Given the description of an element on the screen output the (x, y) to click on. 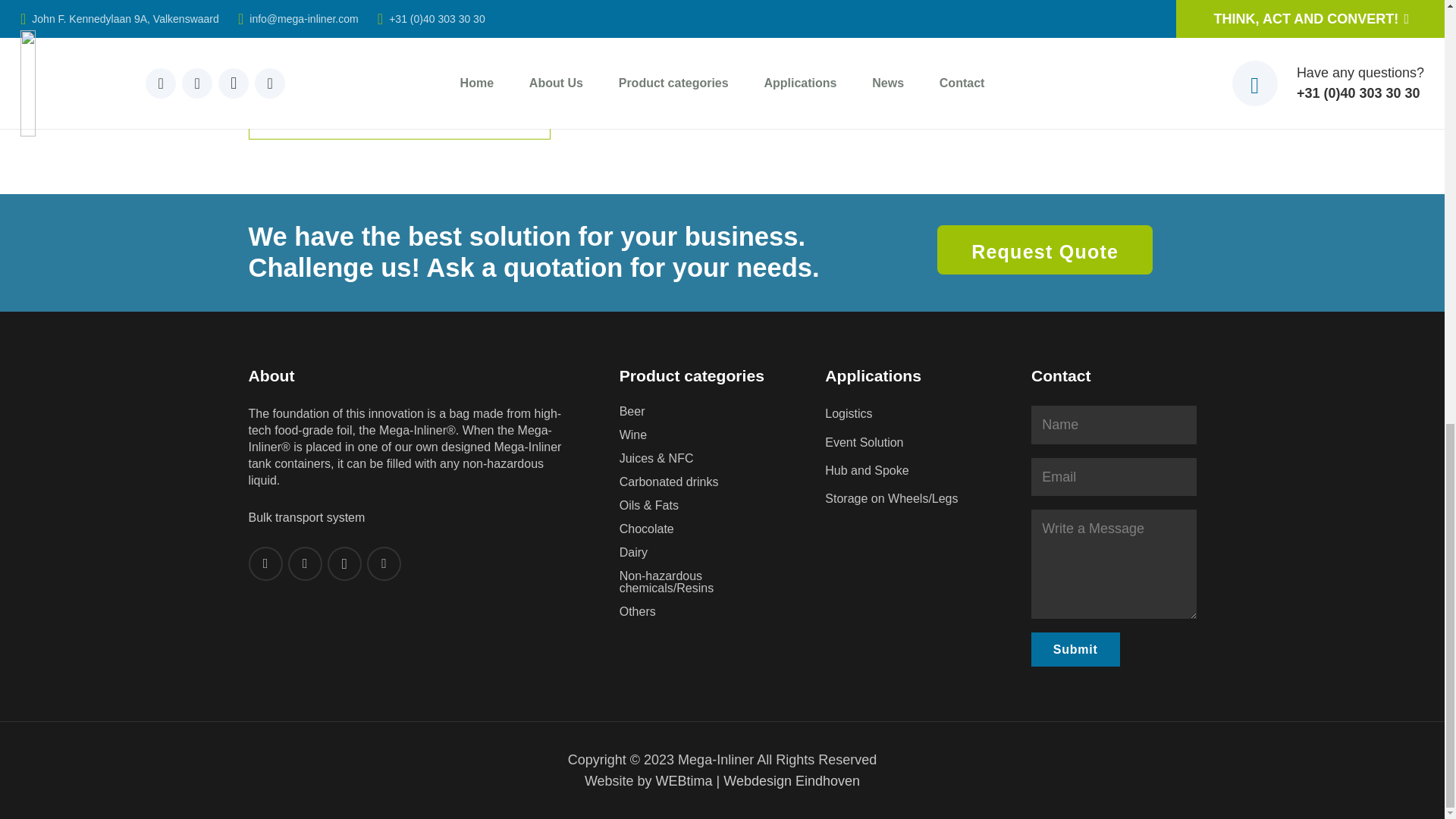
Instagram (344, 563)
Facebook (383, 563)
Contact (1045, 249)
LinkedIn (265, 563)
YouTube (304, 563)
